Given the description of an element on the screen output the (x, y) to click on. 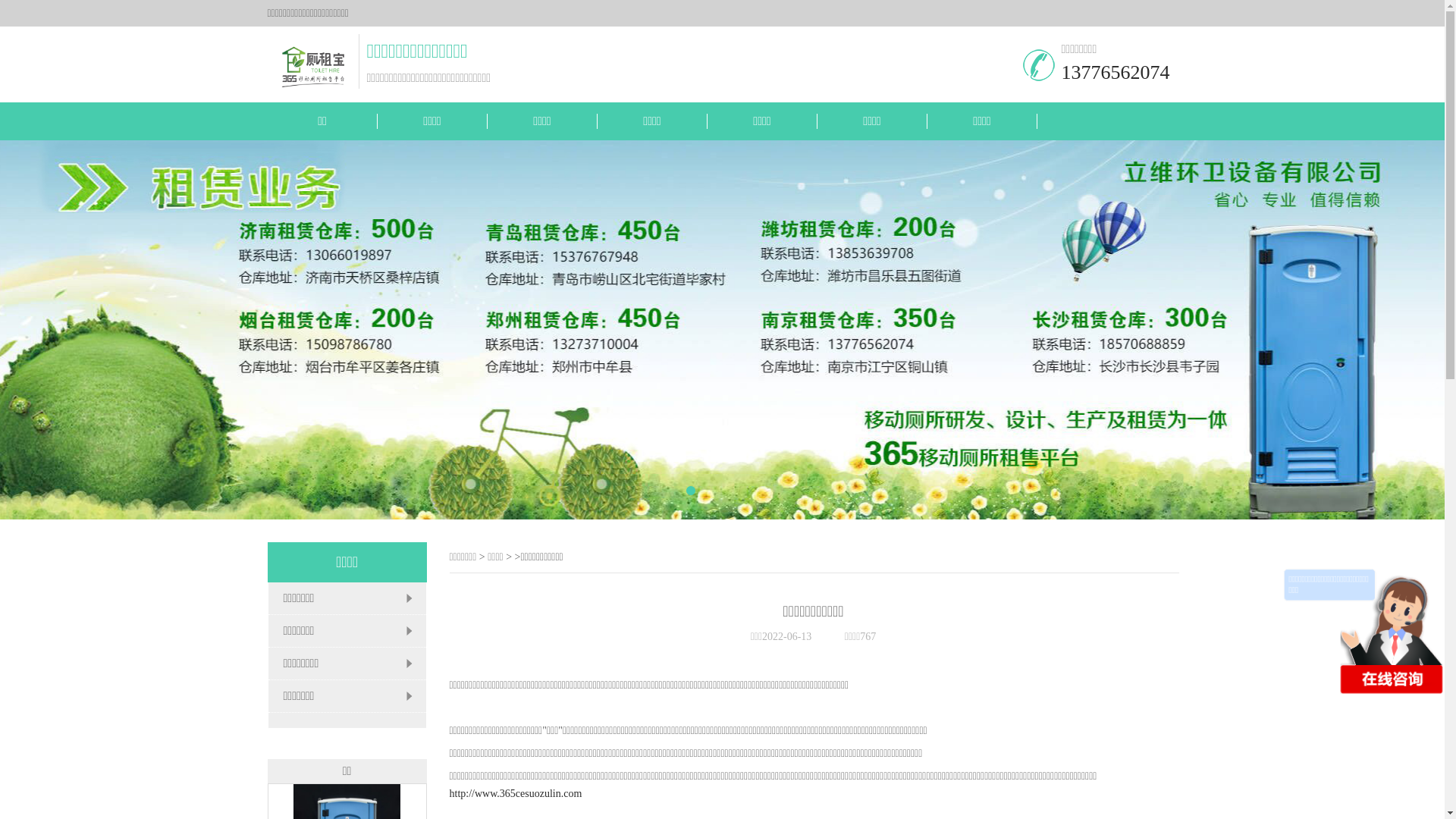
http://www.365cesuozulin.com Element type: text (514, 793)
